Given the description of an element on the screen output the (x, y) to click on. 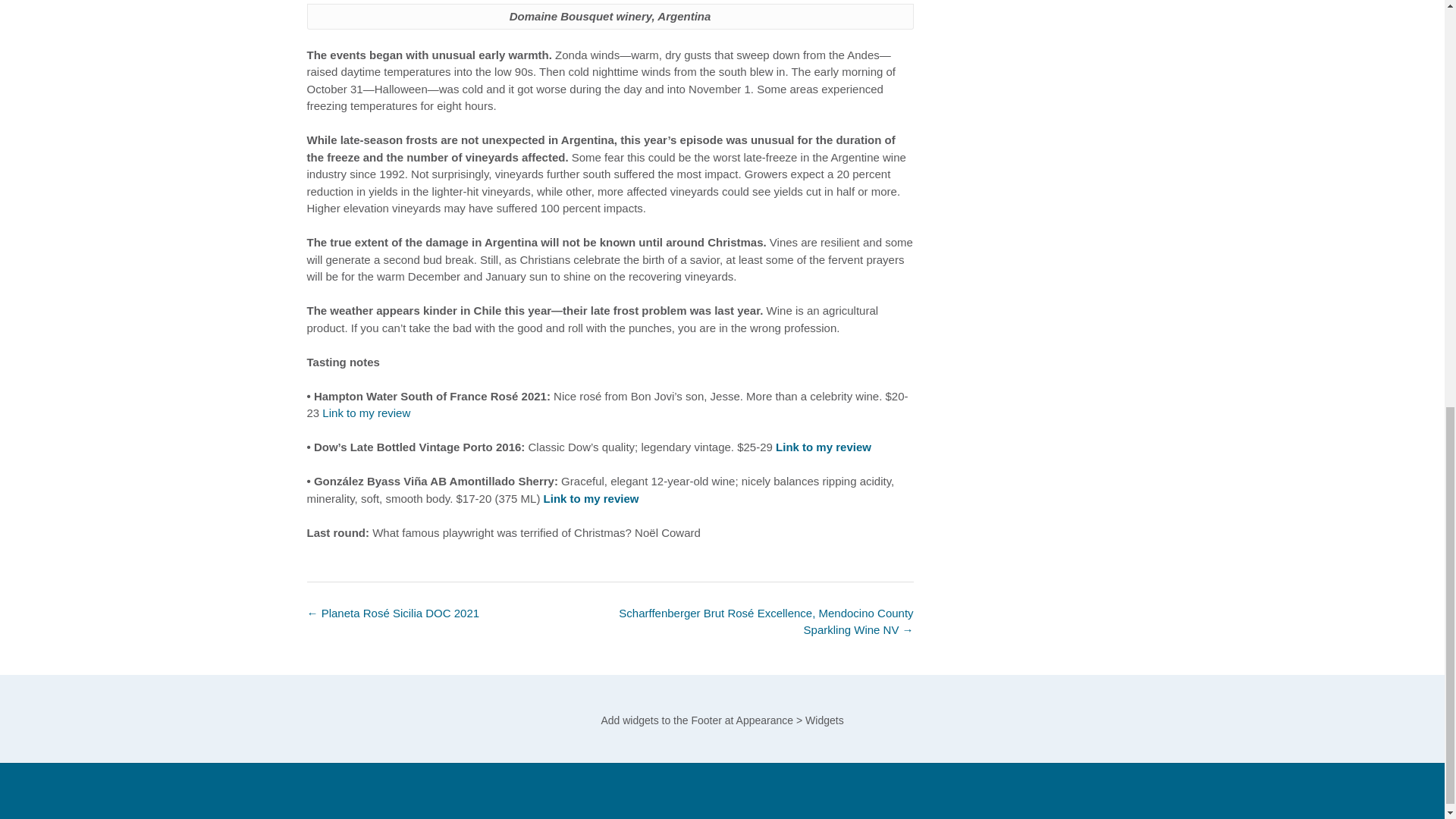
Link to my review (591, 497)
Link to my review (365, 412)
Link to my review (823, 446)
